Given the description of an element on the screen output the (x, y) to click on. 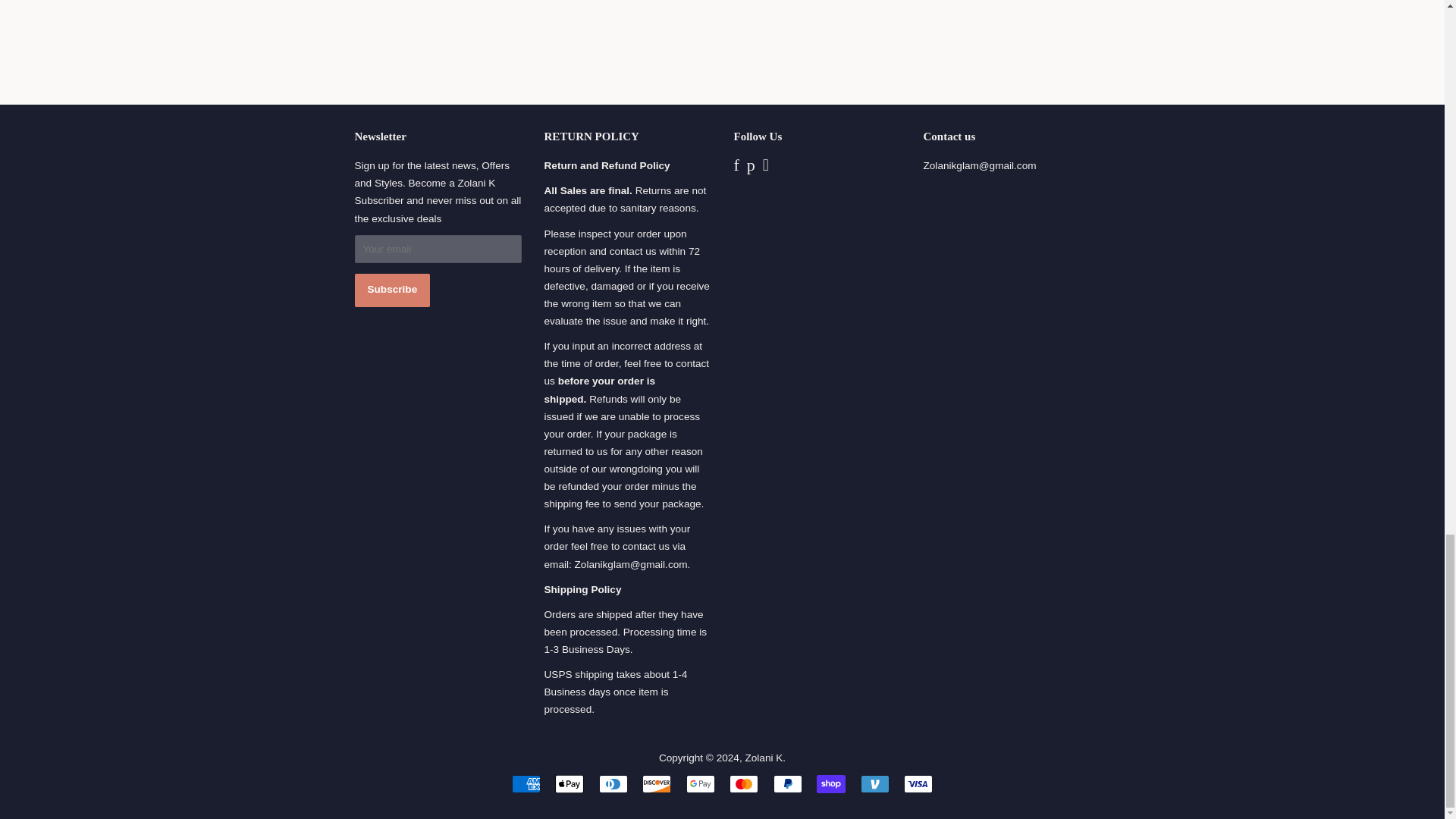
Subscribe (392, 567)
Subscribe (392, 567)
